Given the description of an element on the screen output the (x, y) to click on. 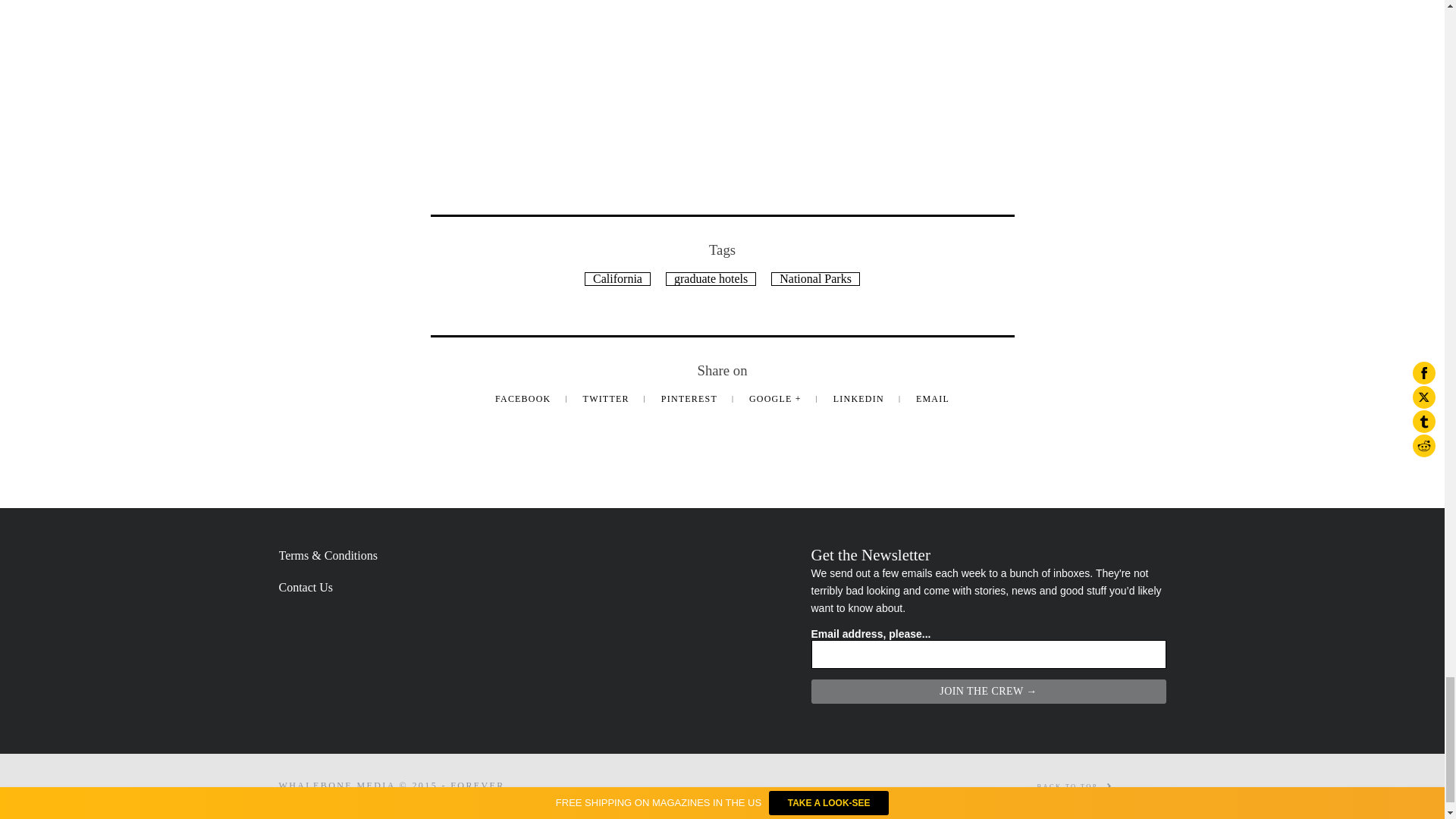
LINKEDIN (859, 398)
EMAIL (932, 398)
PINTEREST (690, 398)
